Given the description of an element on the screen output the (x, y) to click on. 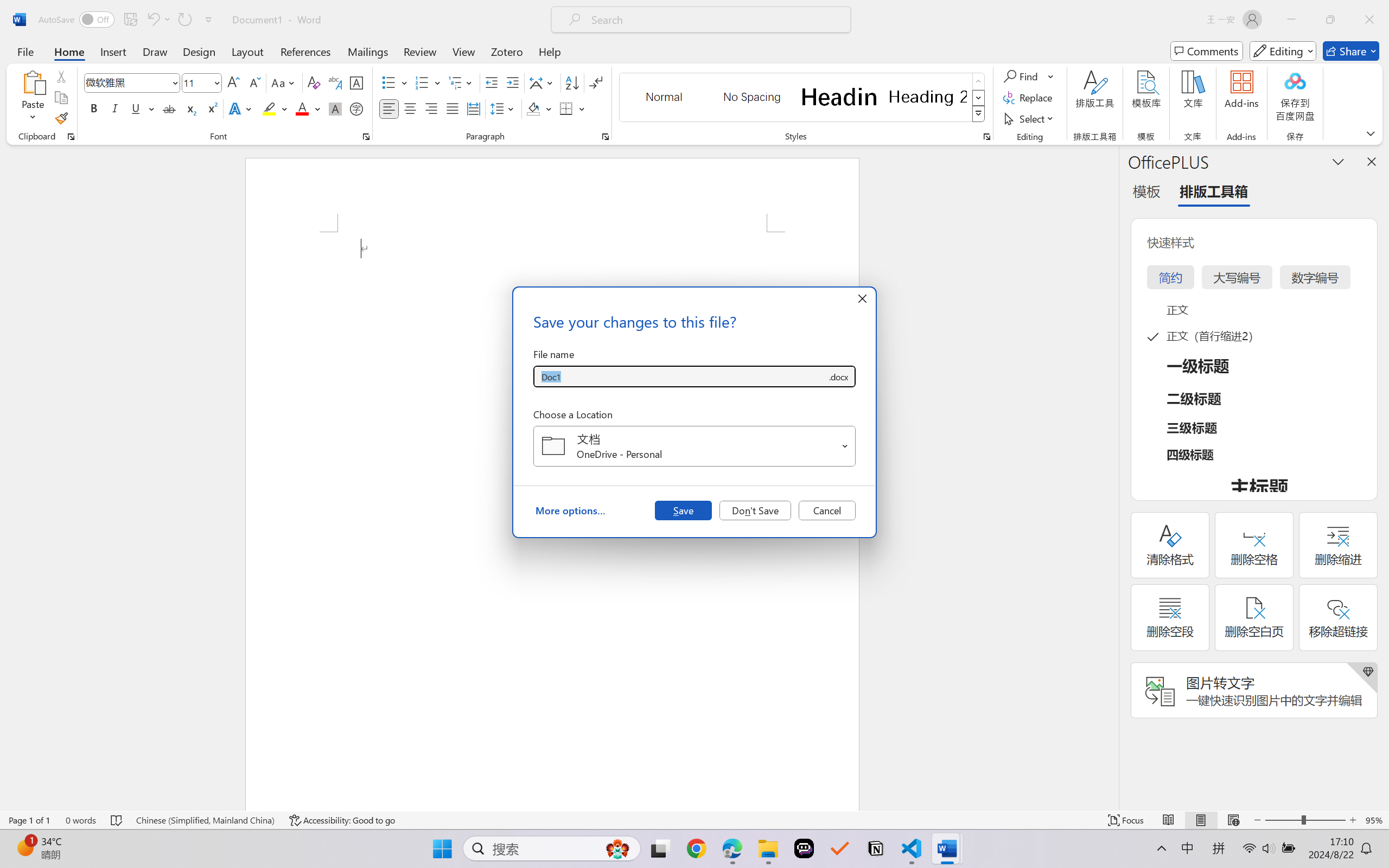
Save as type (837, 376)
